Given the description of an element on the screen output the (x, y) to click on. 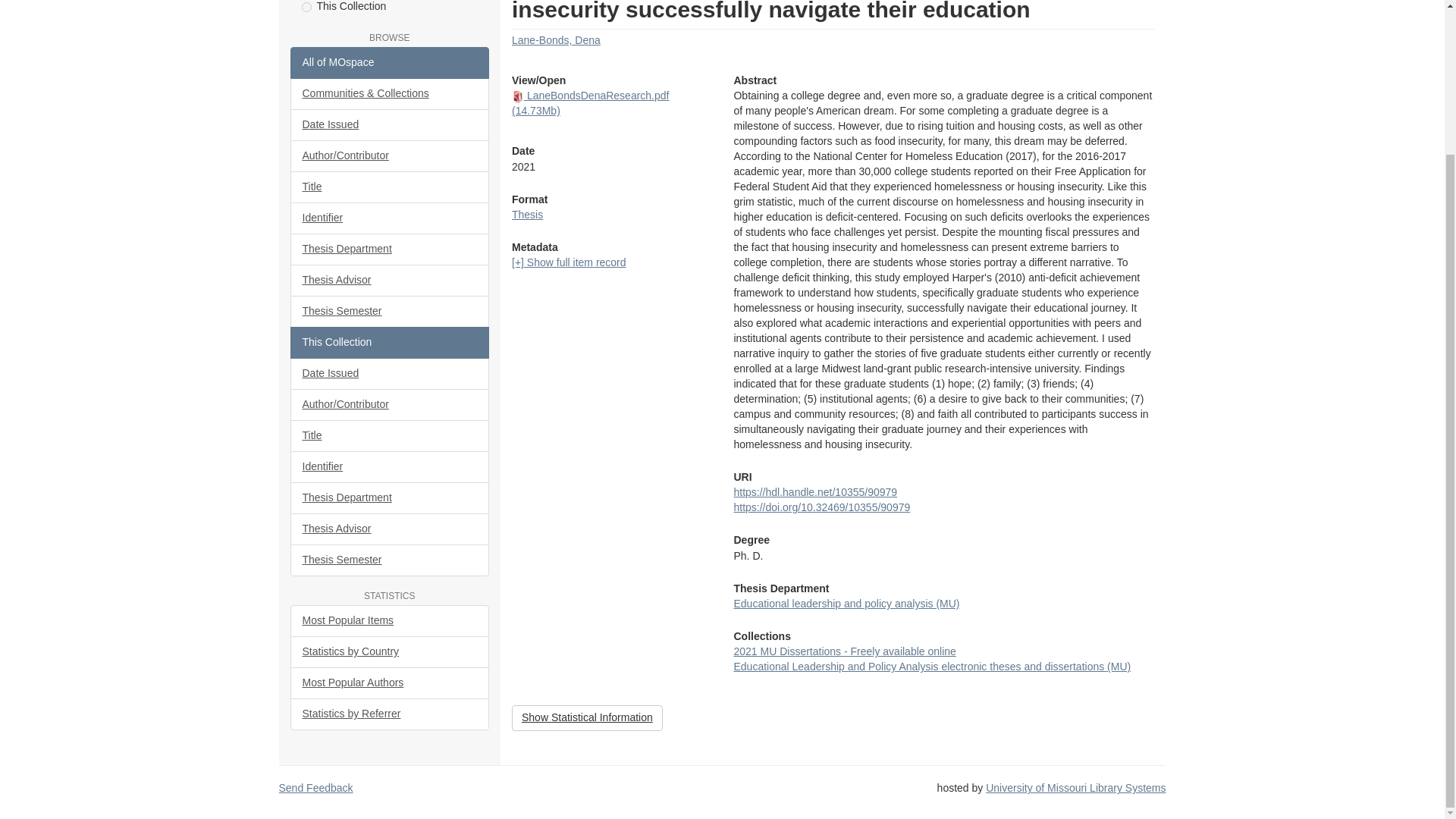
PDF file (518, 96)
Title (389, 187)
Date Issued (389, 124)
Identifier (389, 218)
Thesis Advisor (389, 280)
Thesis Department (389, 249)
All of MOspace (389, 62)
